Given the description of an element on the screen output the (x, y) to click on. 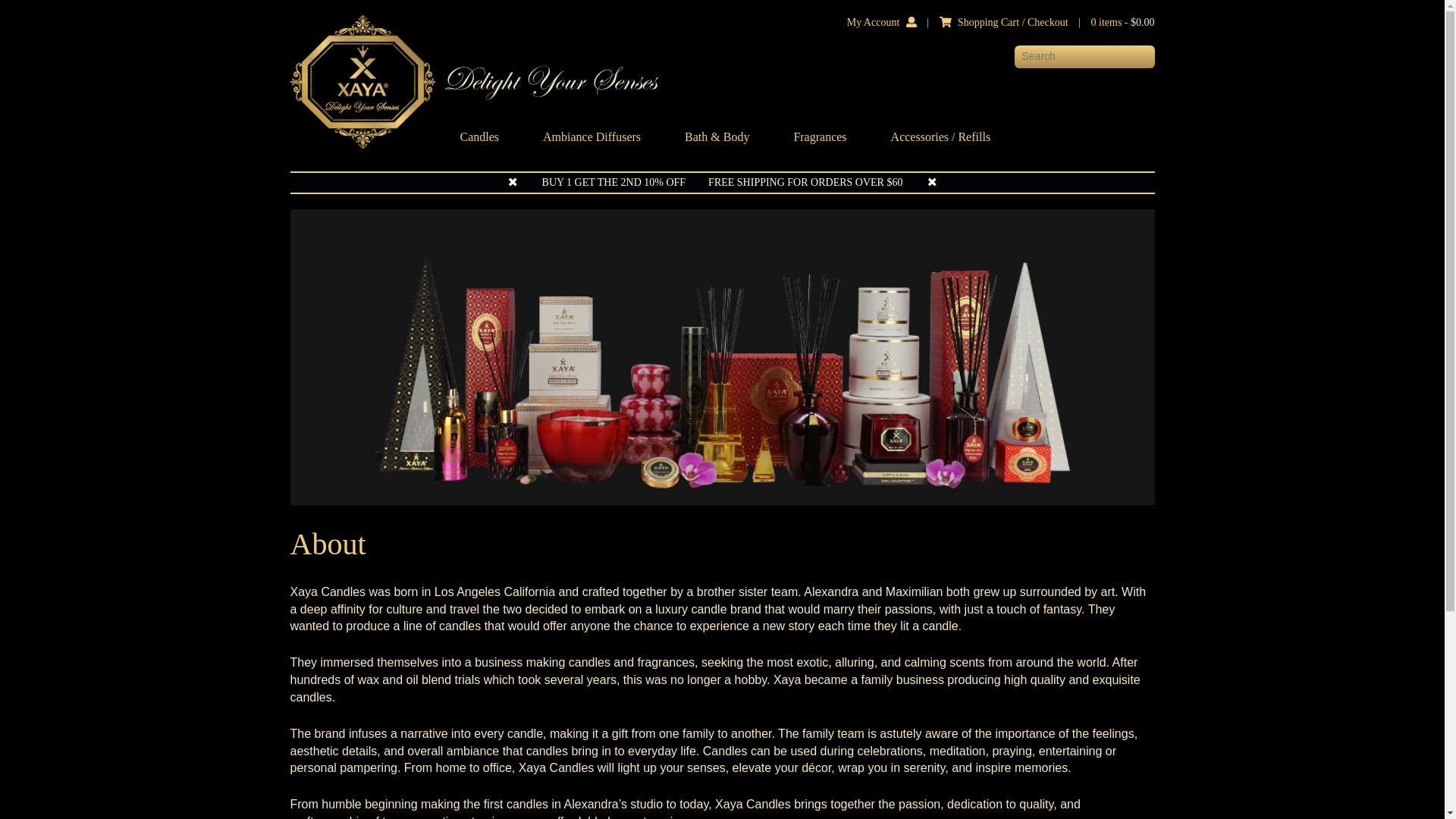
View your shopping cart (1122, 21)
Fragrances (819, 136)
Candles (479, 136)
Candles (479, 136)
Ambiance Diffusers (591, 136)
Fragrances (819, 136)
My Account (873, 21)
Ambiance Diffusers (591, 136)
